Given the description of an element on the screen output the (x, y) to click on. 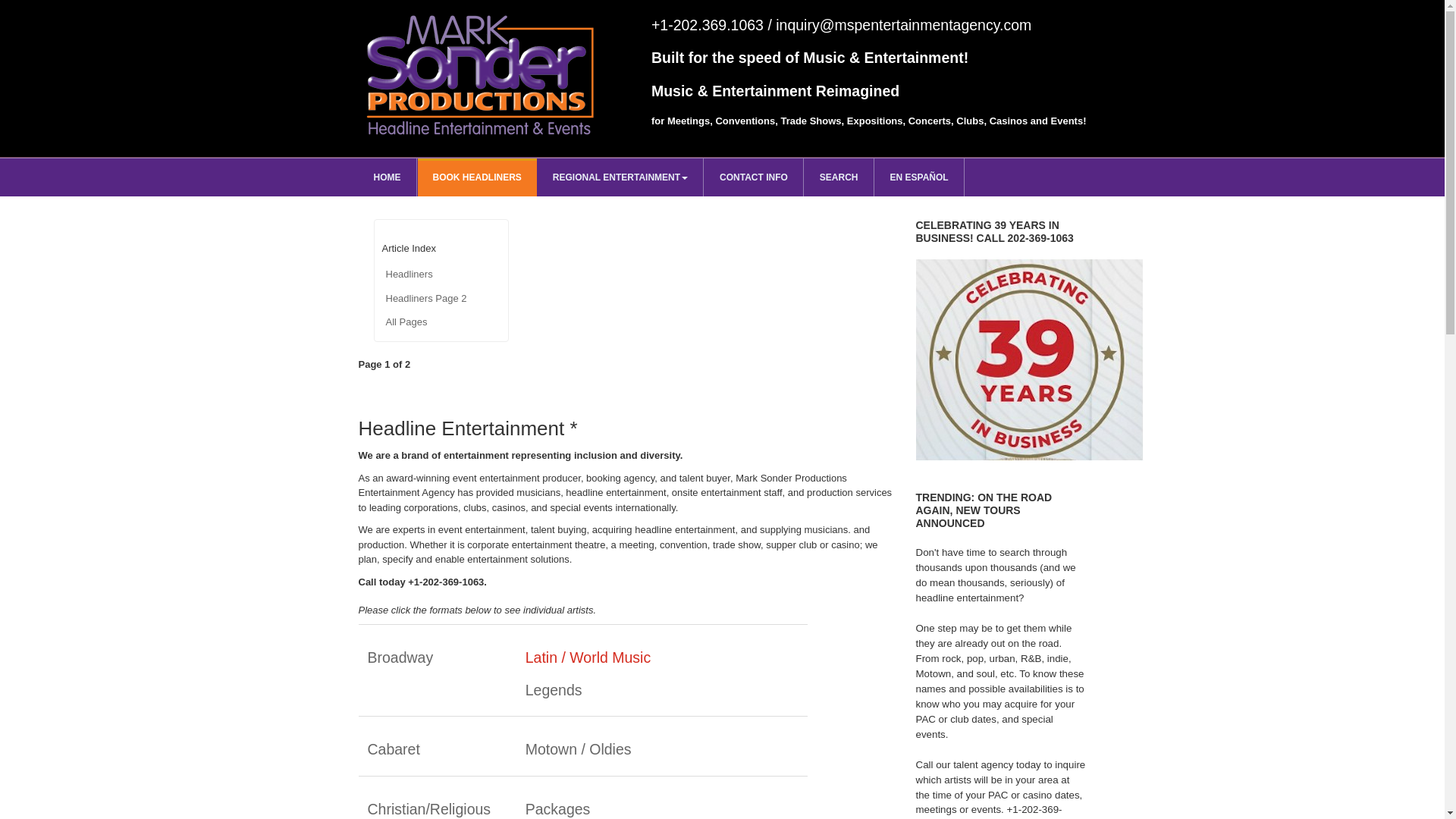
SEARCH (840, 177)
National Musicians and Bands Bookings (620, 177)
HOME (387, 177)
Global Talent Booking (475, 177)
Search for Celebrity Talent (840, 177)
Headliners (440, 273)
Entertainment Booking Agency (387, 177)
Legends (553, 689)
All Pages (440, 322)
REGIONAL ENTERTAINMENT (620, 177)
Cabaret (392, 749)
Headliners Page 2 (440, 298)
CONTACT INFO (753, 177)
BOOK HEADLINERS (475, 177)
